Given the description of an element on the screen output the (x, y) to click on. 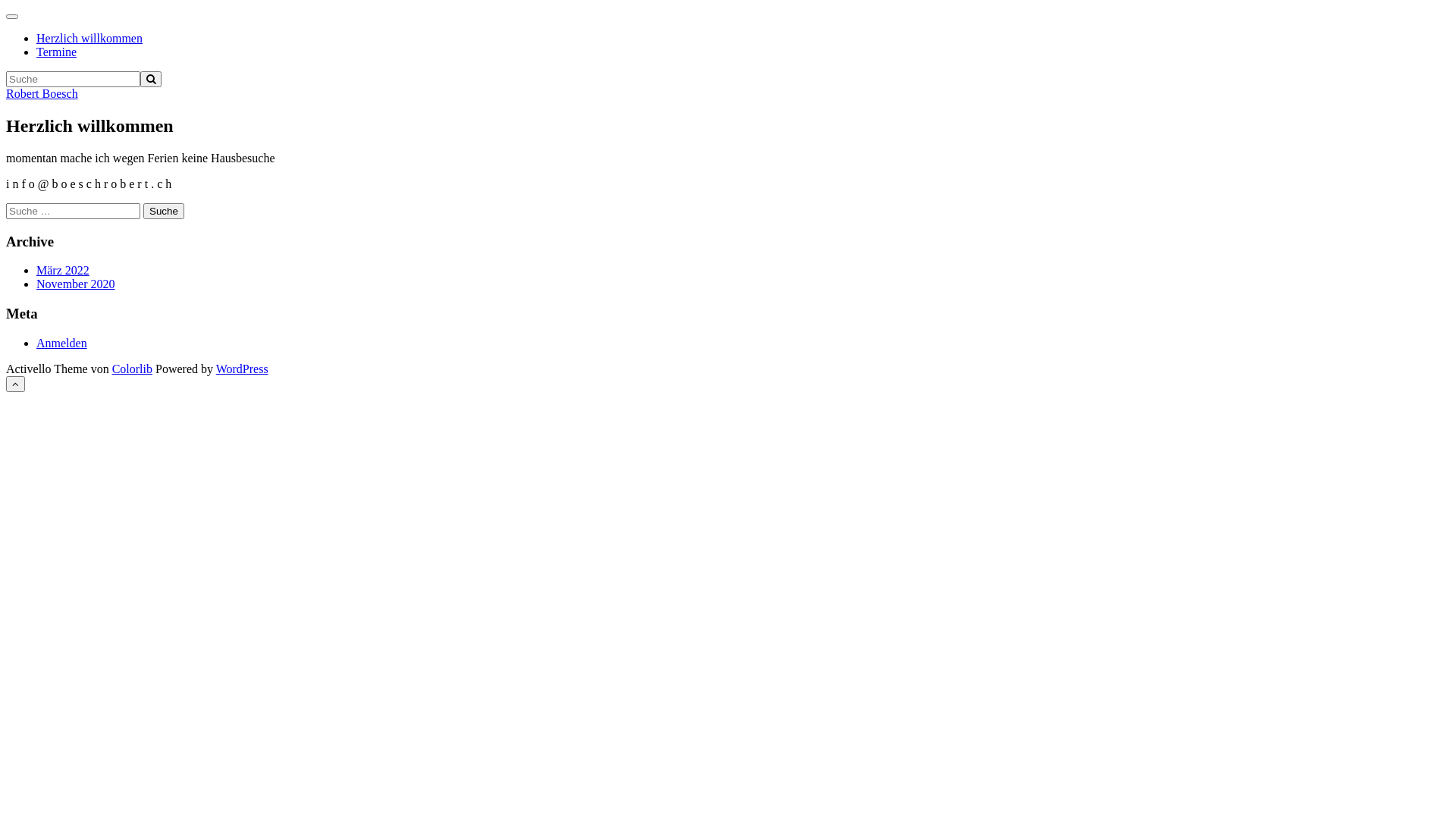
Navigation ein-/ausschalten Element type: text (12, 16)
Robert Boesch Element type: text (42, 93)
Colorlib Element type: text (132, 368)
Herzlich willkommen Element type: text (89, 37)
Anmelden Element type: text (61, 342)
November 2020 Element type: text (75, 283)
Suche Element type: text (163, 211)
Suche Element type: text (150, 79)
WordPress Element type: text (242, 368)
Termine Element type: text (56, 51)
Suche nach: Element type: hover (73, 211)
